Given the description of an element on the screen output the (x, y) to click on. 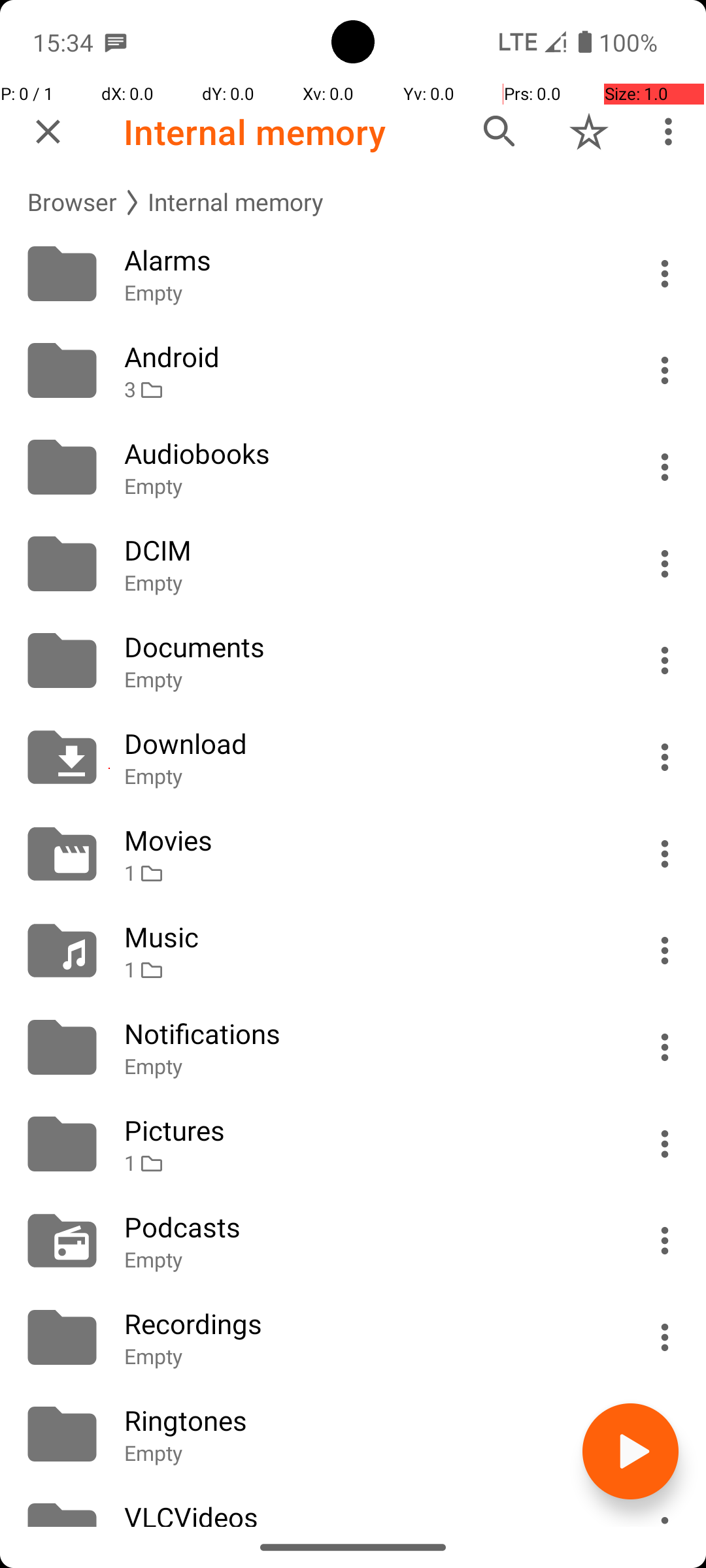
Folder: Alarms, Empty Element type: android.view.ViewGroup (353, 273)
Folder: Android, 3 subfolders Element type: android.view.ViewGroup (353, 370)
Folder: Audiobooks, Empty Element type: android.view.ViewGroup (353, 466)
Folder: DCIM, Empty Element type: android.view.ViewGroup (353, 563)
Folder: Documents, Empty Element type: android.view.ViewGroup (353, 660)
Folder: Download, Empty Element type: android.view.ViewGroup (353, 756)
Folder: Movies, 1 subfolder Element type: android.view.ViewGroup (353, 853)
Folder: Music, 1 subfolder Element type: android.view.ViewGroup (353, 950)
Folder: Notifications, Empty Element type: android.view.ViewGroup (353, 1046)
Folder: Pictures, 1 subfolder Element type: android.view.ViewGroup (353, 1143)
Folder: Podcasts, Empty Element type: android.view.ViewGroup (353, 1240)
Folder: Recordings, Empty Element type: android.view.ViewGroup (353, 1337)
Folder: Ringtones, Empty Element type: android.view.ViewGroup (353, 1433)
Folder: VLCVideos, 20 media files Element type: android.view.ViewGroup (353, 1504)
Alarms Element type: android.widget.TextView (366, 259)
Android Element type: android.widget.TextView (366, 356)
3 §*§ Element type: android.widget.TextView (366, 389)
Audiobooks Element type: android.widget.TextView (366, 452)
Pictures Element type: android.widget.TextView (366, 1129)
Recordings Element type: android.widget.TextView (366, 1322)
Ringtones Element type: android.widget.TextView (366, 1419)
